Given the description of an element on the screen output the (x, y) to click on. 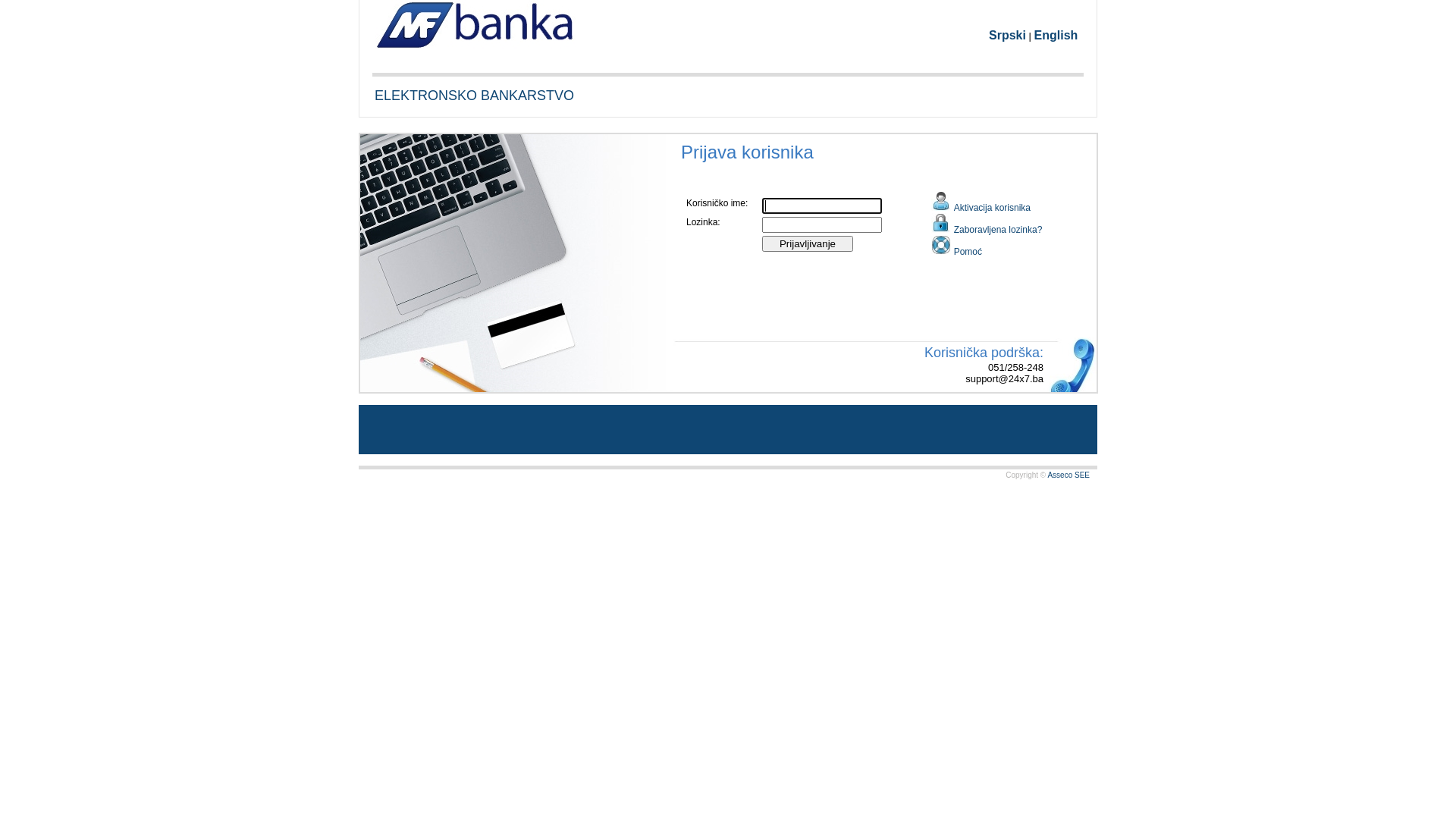
Asseco SEE Element type: text (1068, 474)
Aktivacija korisnika Element type: text (987, 202)
Zaboravljena lozinka? Element type: text (987, 224)
Zaboravljena lozinka? Element type: text (997, 229)
Prijavljivanje Element type: text (807, 243)
English Element type: text (1056, 34)
Aktivacija korisnika Element type: text (991, 207)
Srpski Element type: text (1007, 34)
